Given the description of an element on the screen output the (x, y) to click on. 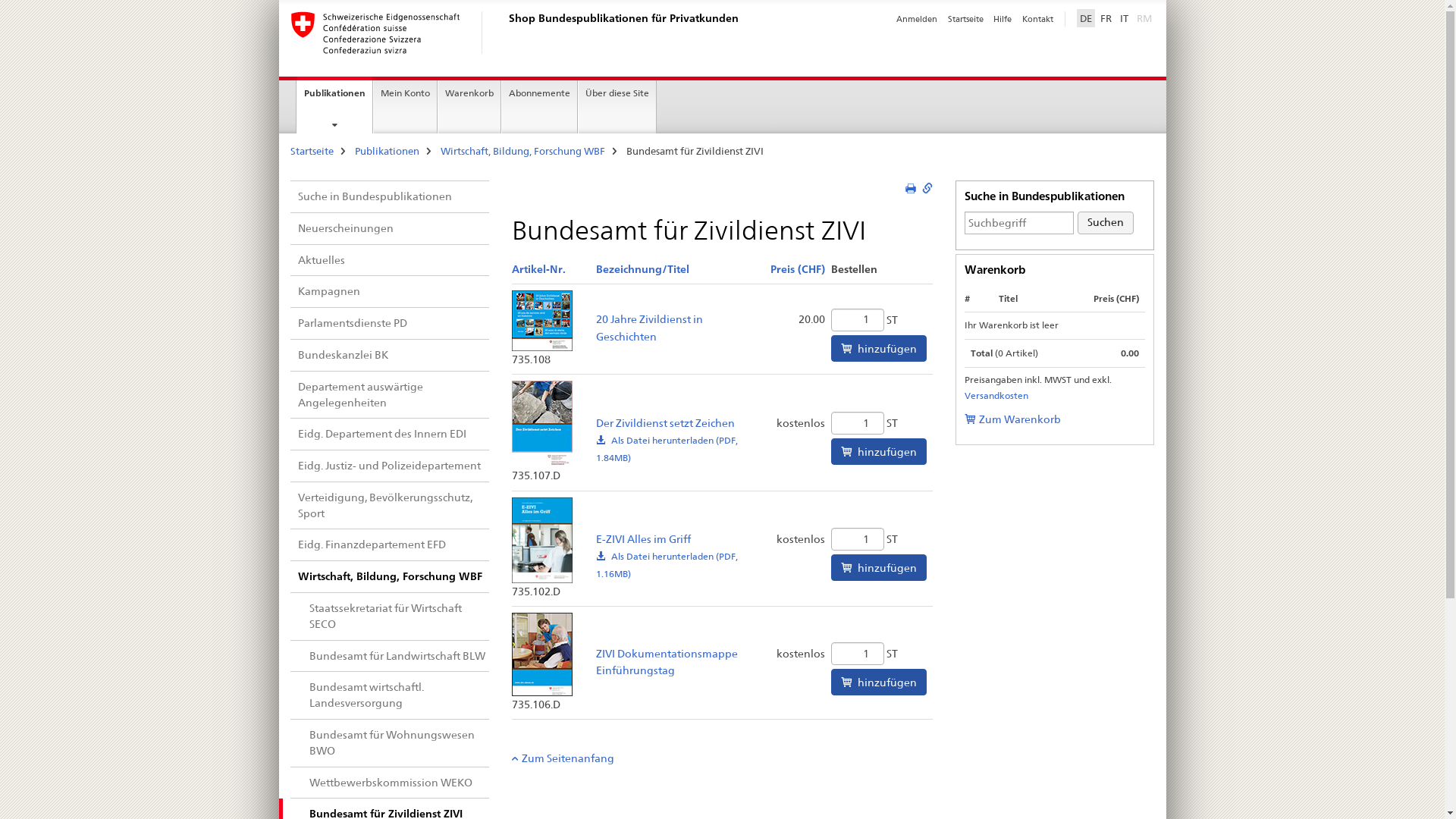
Zum Seitenanfang Element type: text (562, 758)
Mein Konto Element type: text (404, 106)
Menge Element type: hover (857, 538)
Bundesamt wirtschaftl. Landesversorgung Element type: text (389, 694)
Produktbild: Der Zivildienst setzt Zeichen Element type: hover (541, 423)
Kontakt Element type: text (1037, 18)
Anmelden Element type: text (916, 18)
Produktbild: 20 Jahre Zivildienst in Geschichten Element type: hover (541, 319)
Aufsteigend sortieren:
Artikel-Nr. Element type: text (538, 269)
Warenkorb Element type: text (469, 106)
Eidg. Departement des Innern EDI Element type: text (389, 433)
Eidg. Finanzdepartement EFD Element type: text (389, 544)
Publikationen Element type: text (334, 104)
IT Element type: text (1123, 18)
Zur Druckversion Element type: hover (912, 188)
Eidg. Justiz- und Polizeidepartement Element type: text (389, 465)
Aufsteigend sortieren:
Bezeichnung/Titel Element type: text (642, 269)
Produktbild: E-ZIVI Alles im Griff Element type: hover (541, 539)
Menge Element type: hover (857, 653)
FR Element type: text (1104, 18)
Kampagnen Element type: text (389, 291)
E-ZIVI Alles im Griff:
Als Datei herunterladen (PDF, 1.16MB) Element type: text (666, 564)
Aufsteigend sortieren:
Preis (CHF) Element type: text (797, 269)
E-ZIVI Alles im Griff Element type: text (643, 539)
Wirtschaft, Bildung, Forschung WBF Element type: text (389, 576)
Startseite Element type: text (965, 18)
Abonnemente Element type: text (539, 106)
20 Jahre Zivildienst in Geschichten Element type: text (649, 327)
Bundeskanzlei BK Element type: text (389, 354)
Produktbild: 20 Jahre Zivildienst in Geschichten Element type: hover (541, 320)
Wettbewerbskommission WEKO Element type: text (389, 782)
Hilfe Element type: text (1002, 18)
Menge Element type: hover (857, 422)
Suche in Bundespublikationen Element type: text (389, 196)
DE Element type: text (1085, 18)
Menge Element type: hover (857, 319)
RM
inaktiv Element type: text (1143, 18)
Wirtschaft, Bildung, Forschung WBF Element type: text (521, 150)
Parlamentsdienste PD Element type: text (389, 322)
Publikationen Element type: text (386, 150)
Neuerscheinungen Element type: text (389, 228)
Startseite Element type: text (310, 150)
Suchen Element type: text (1105, 222)
Produktbild: Der Zivildienst setzt Zeichen Element type: hover (541, 423)
Versandkosten Element type: text (996, 395)
Produktbild: E-ZIVI Alles im Griff Element type: hover (541, 540)
Zum Warenkorb Element type: text (1012, 419)
Der Zivildienst setzt Zeichen Element type: text (665, 423)
Aktuelles Element type: text (389, 260)
